Given the description of an element on the screen output the (x, y) to click on. 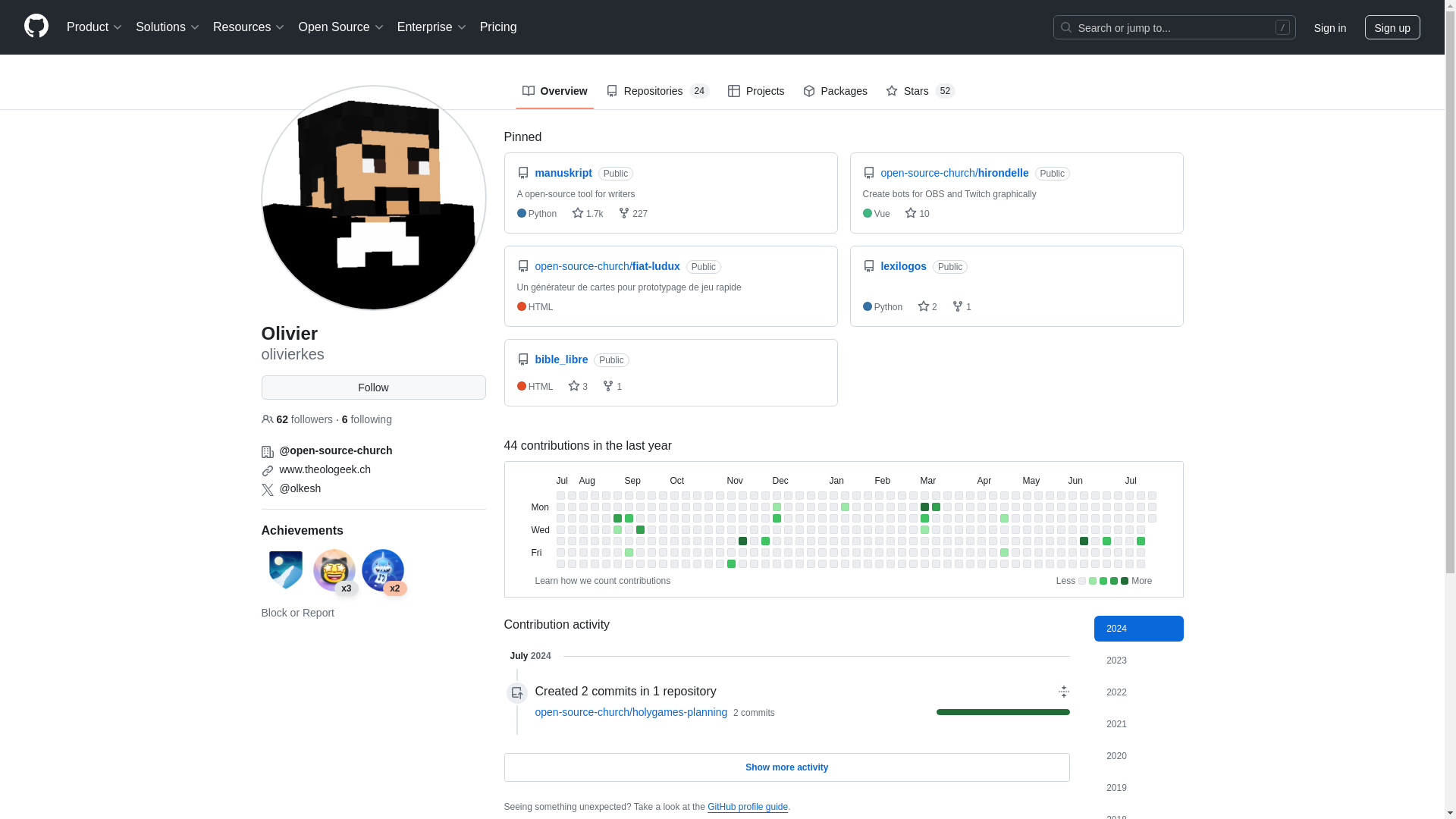
52 (944, 90)
Open Source (341, 27)
24 (699, 90)
Product (95, 27)
Resources (249, 27)
X (266, 490)
Solutions (167, 27)
